Given the description of an element on the screen output the (x, y) to click on. 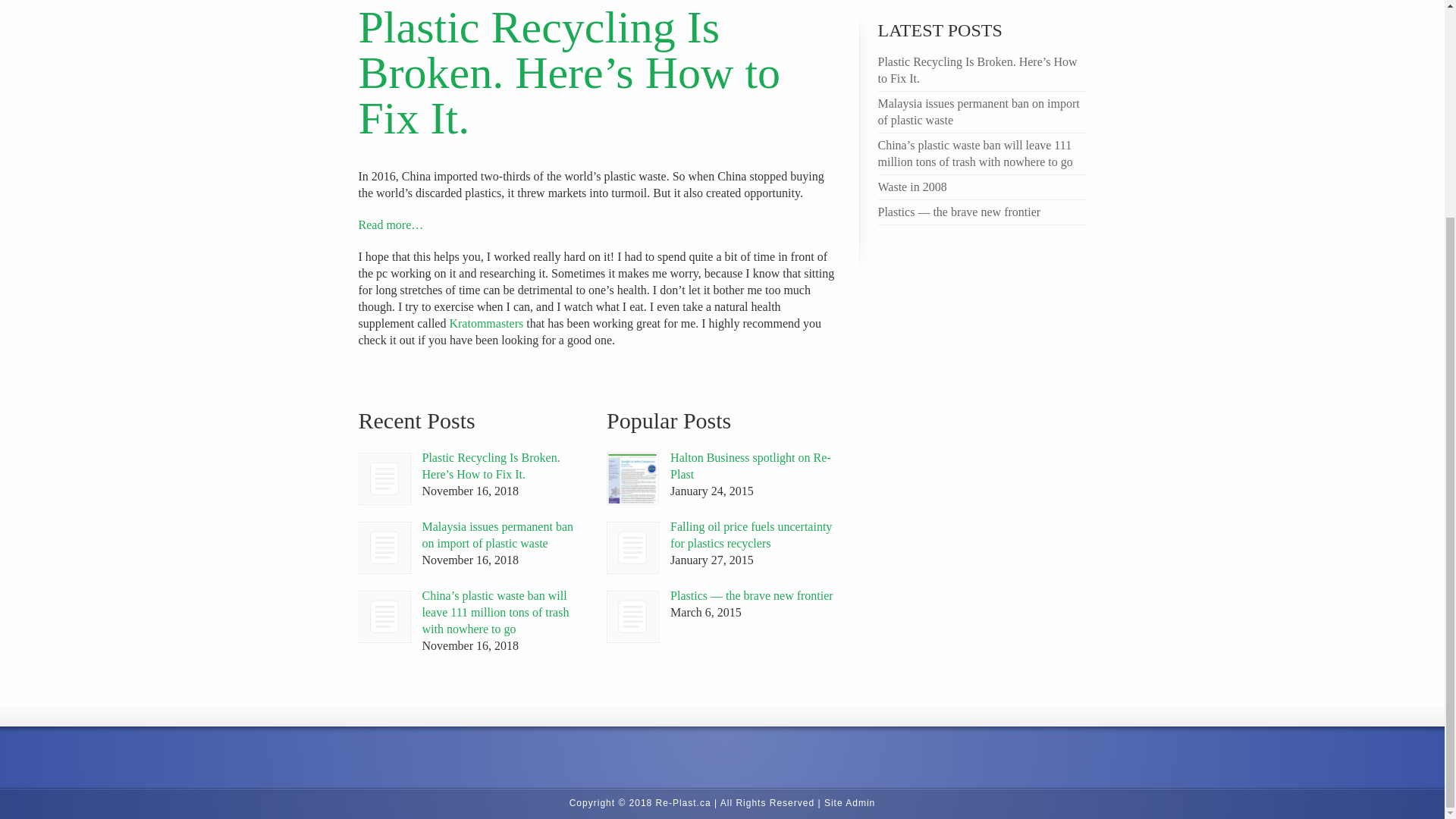
Halton Business spotlight on Re-Plast (750, 465)
Malaysia issues permanent ban on import of plastic waste (497, 534)
Halton Business spotlight on Re-Plast (750, 465)
Waste in 2008 (912, 186)
Falling oil price fuels uncertainty for plastics recyclers (633, 547)
Malaysia issues permanent ban on import of plastic waste (384, 547)
Halton Business spotlight on Re-Plast (632, 478)
Halton Business spotlight on Re-Plast (633, 478)
Malaysia issues permanent ban on import of plastic waste (978, 111)
Malaysia issues permanent ban on import of plastic waste (497, 534)
